Given the description of an element on the screen output the (x, y) to click on. 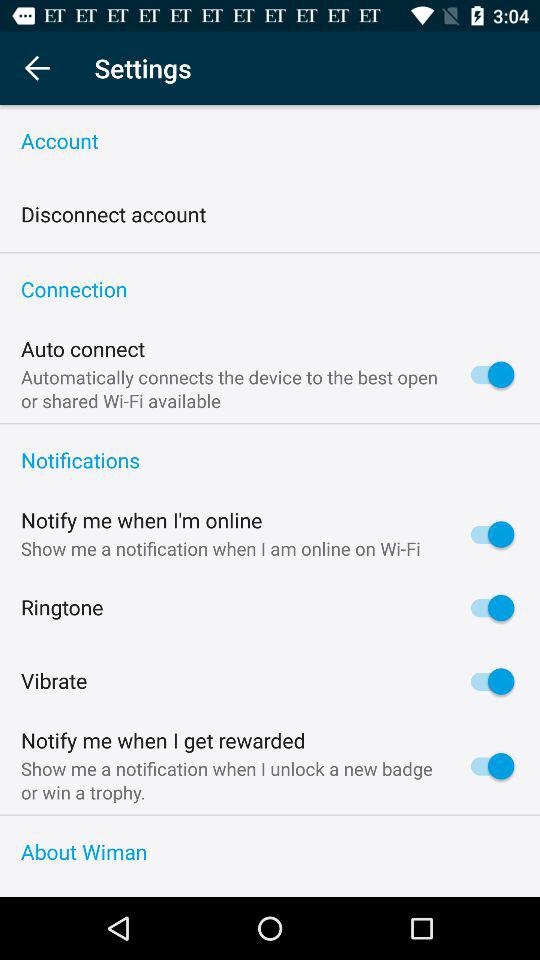
tap the vibrate (54, 681)
